Given the description of an element on the screen output the (x, y) to click on. 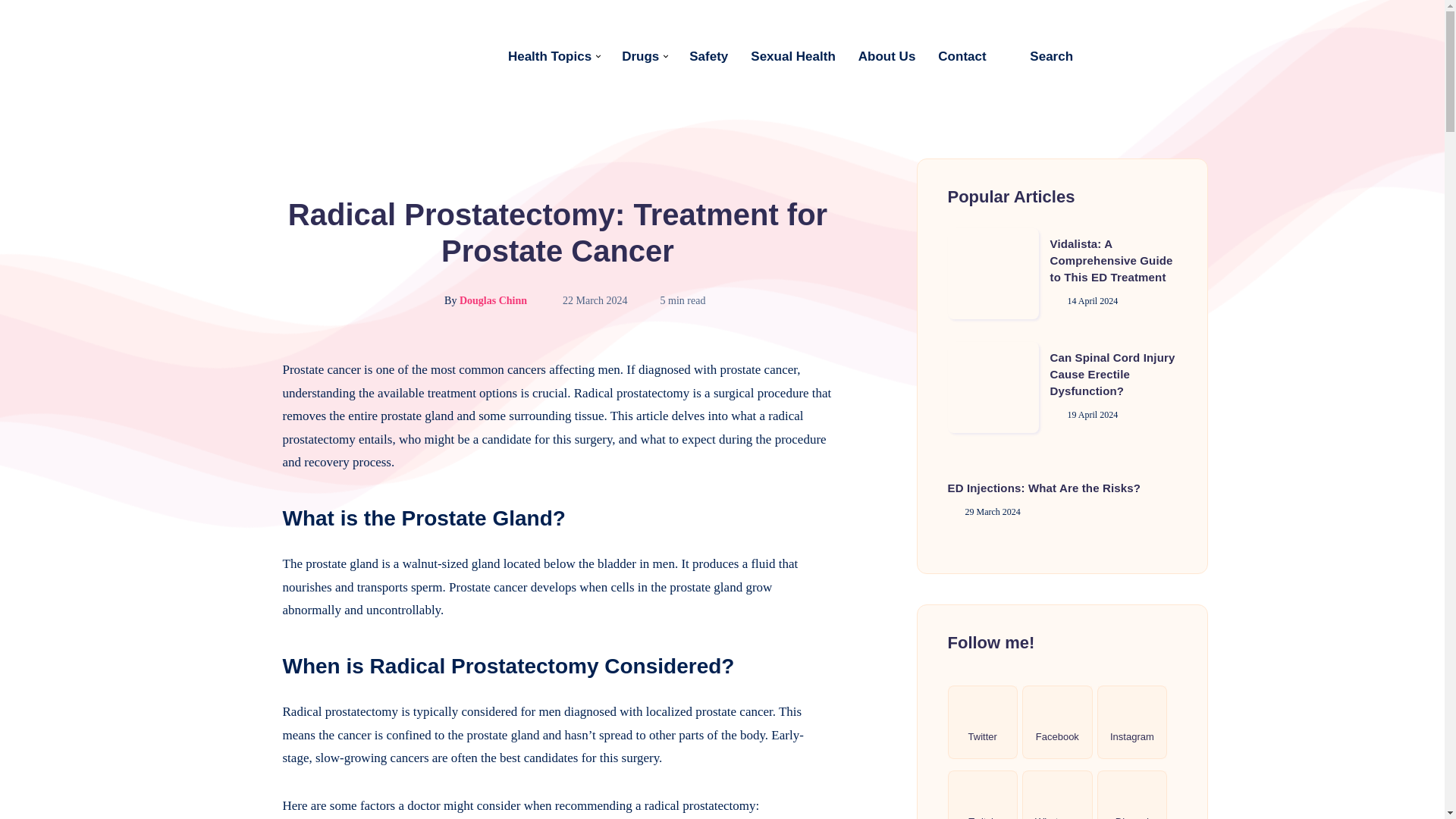
Safety (708, 56)
Sexual Health (793, 56)
Health Topics (549, 56)
Share on Pinterest (244, 438)
Contact (961, 56)
Drugs (640, 56)
Share on Whatsapp (244, 506)
About Us (887, 56)
By Douglas Chinn (469, 300)
Share on Facebook (244, 369)
Search (1041, 56)
Share on Telegram (244, 472)
Share on Twitter (244, 404)
